Given the description of an element on the screen output the (x, y) to click on. 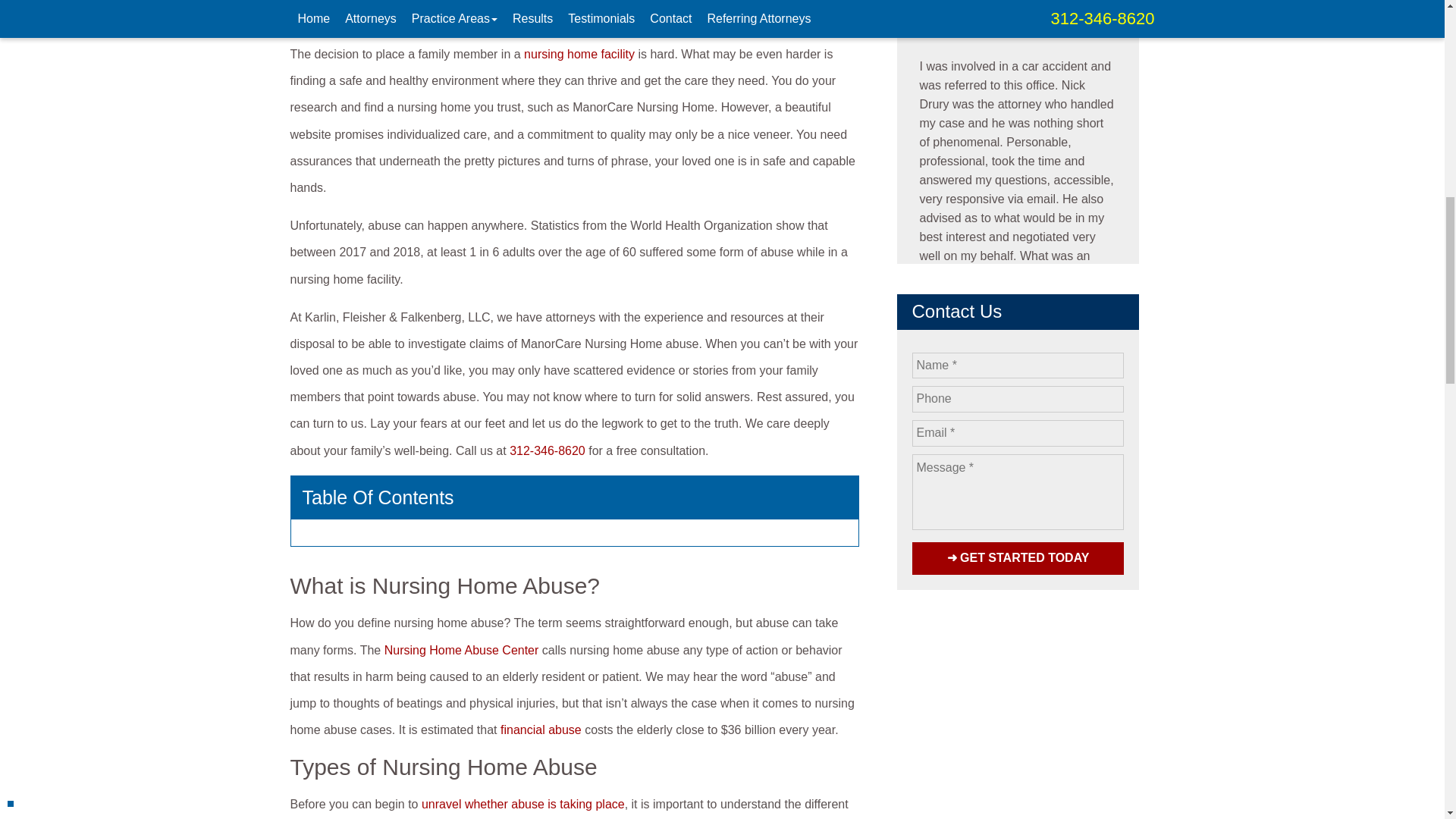
Nursing Home Abuse Center (461, 649)
312-346-8620 (547, 450)
unravel whether abuse is taking place (523, 803)
financial abuse (540, 729)
nursing home facility (579, 53)
